Given the description of an element on the screen output the (x, y) to click on. 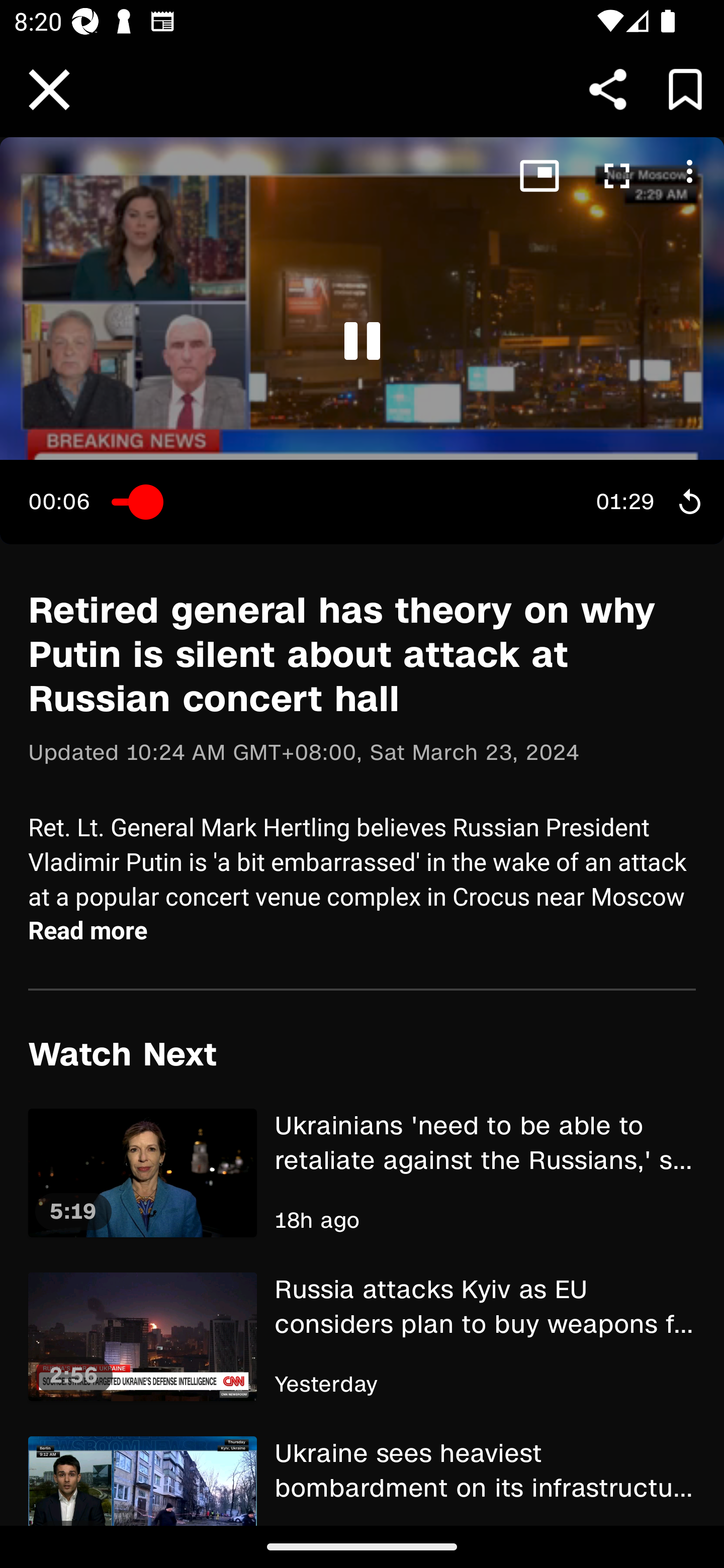
Close (48, 89)
Share (607, 89)
Bookmark (685, 89)
Picture in Picture (535, 177)
Full Screen (616, 177)
More Options (685, 175)
Play/Pause (362, 341)
Rewind Options (685, 501)
